Given the description of an element on the screen output the (x, y) to click on. 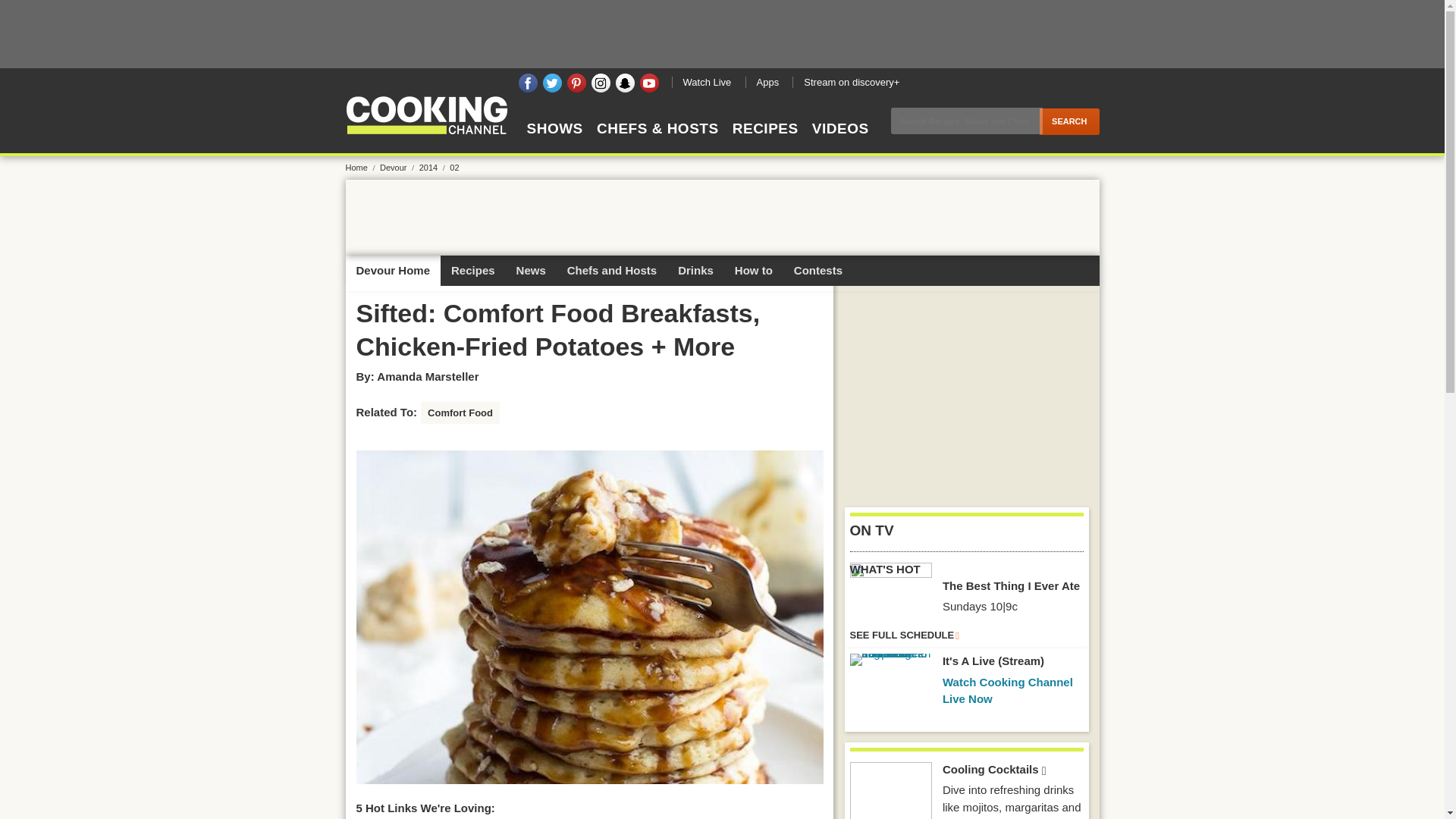
Devour (398, 166)
Follow us on Facebook (527, 82)
RECIPES (764, 141)
Follow us on Snapchat (624, 82)
Follow us on Pinterest (576, 82)
Apps (766, 81)
Contests (818, 269)
News (530, 269)
Chefs and Hosts (611, 269)
SHOWS (554, 141)
Comfort Food (459, 413)
VIDEOS (840, 141)
How to (753, 269)
Follow us on YouTube (649, 82)
Devour Home (393, 269)
